Given the description of an element on the screen output the (x, y) to click on. 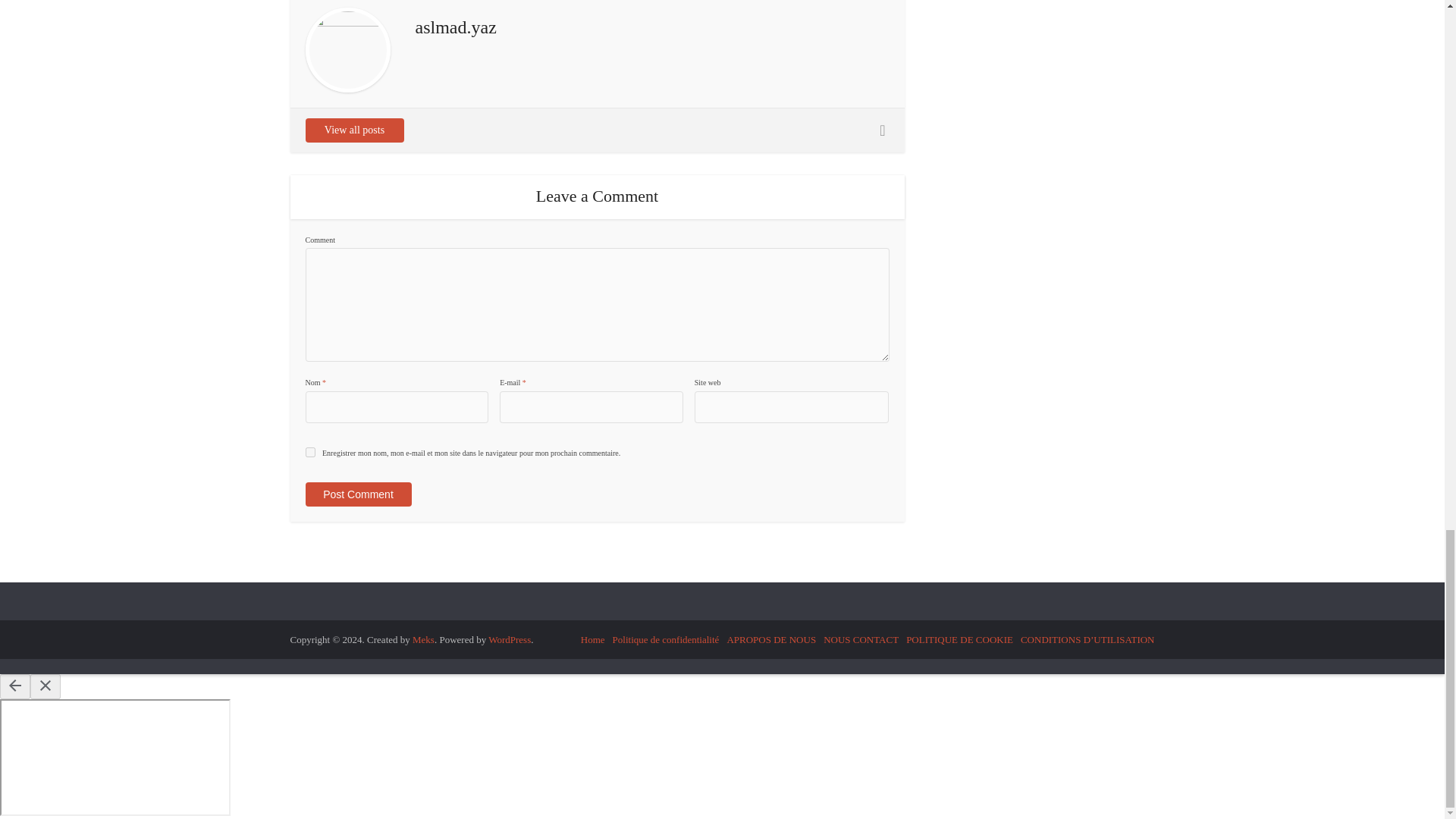
Post Comment (357, 494)
yes (309, 452)
